Given the description of an element on the screen output the (x, y) to click on. 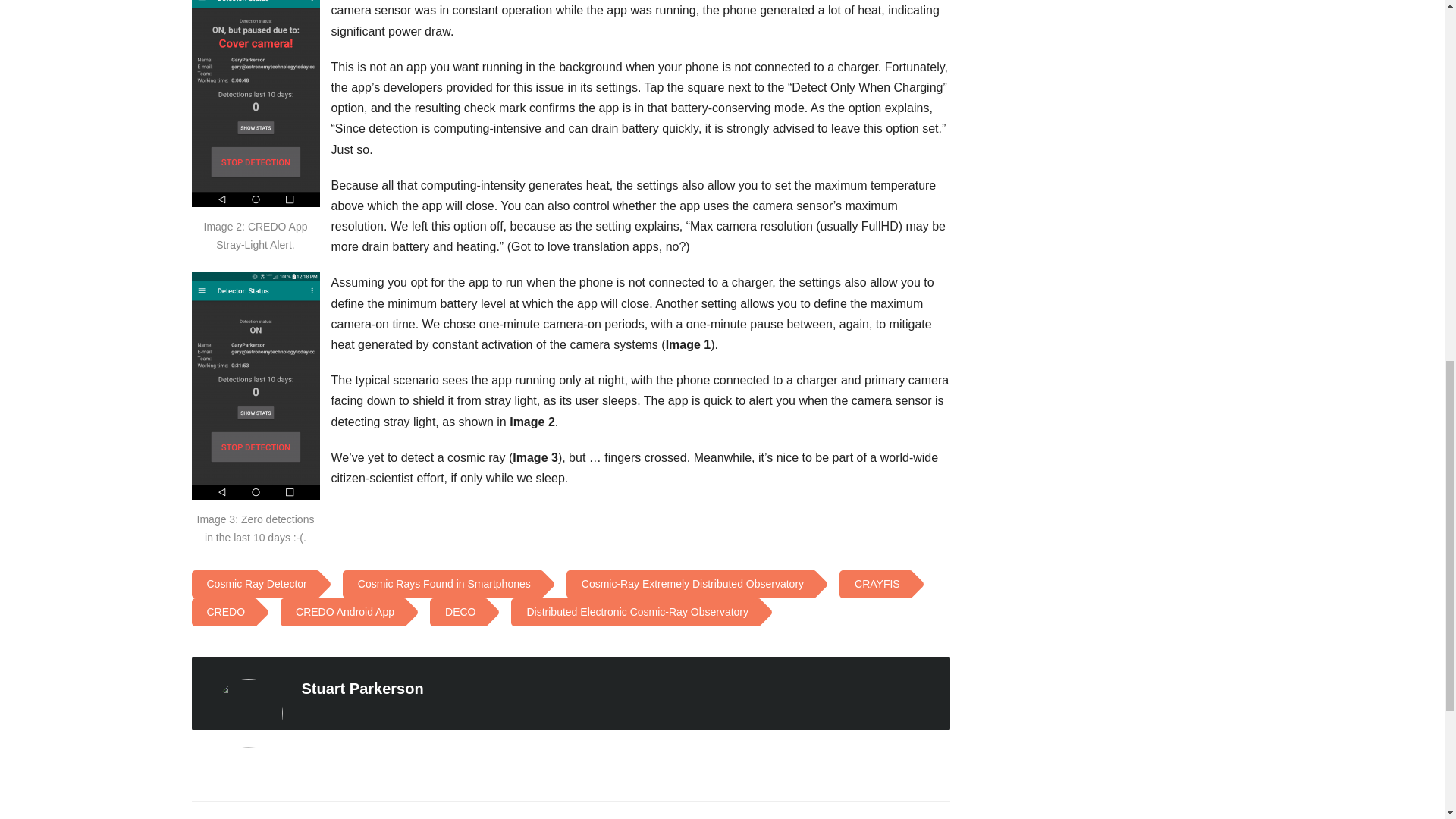
CRAYFIS (874, 584)
Cosmic-Ray Extremely Distributed Observatory (689, 584)
CREDO Android App (342, 612)
Cosmic Ray Detector (252, 584)
Posts by Stuart Parkerson (362, 688)
CREDO (221, 612)
Cosmic Rays Found in Smartphones (441, 584)
